Given the description of an element on the screen output the (x, y) to click on. 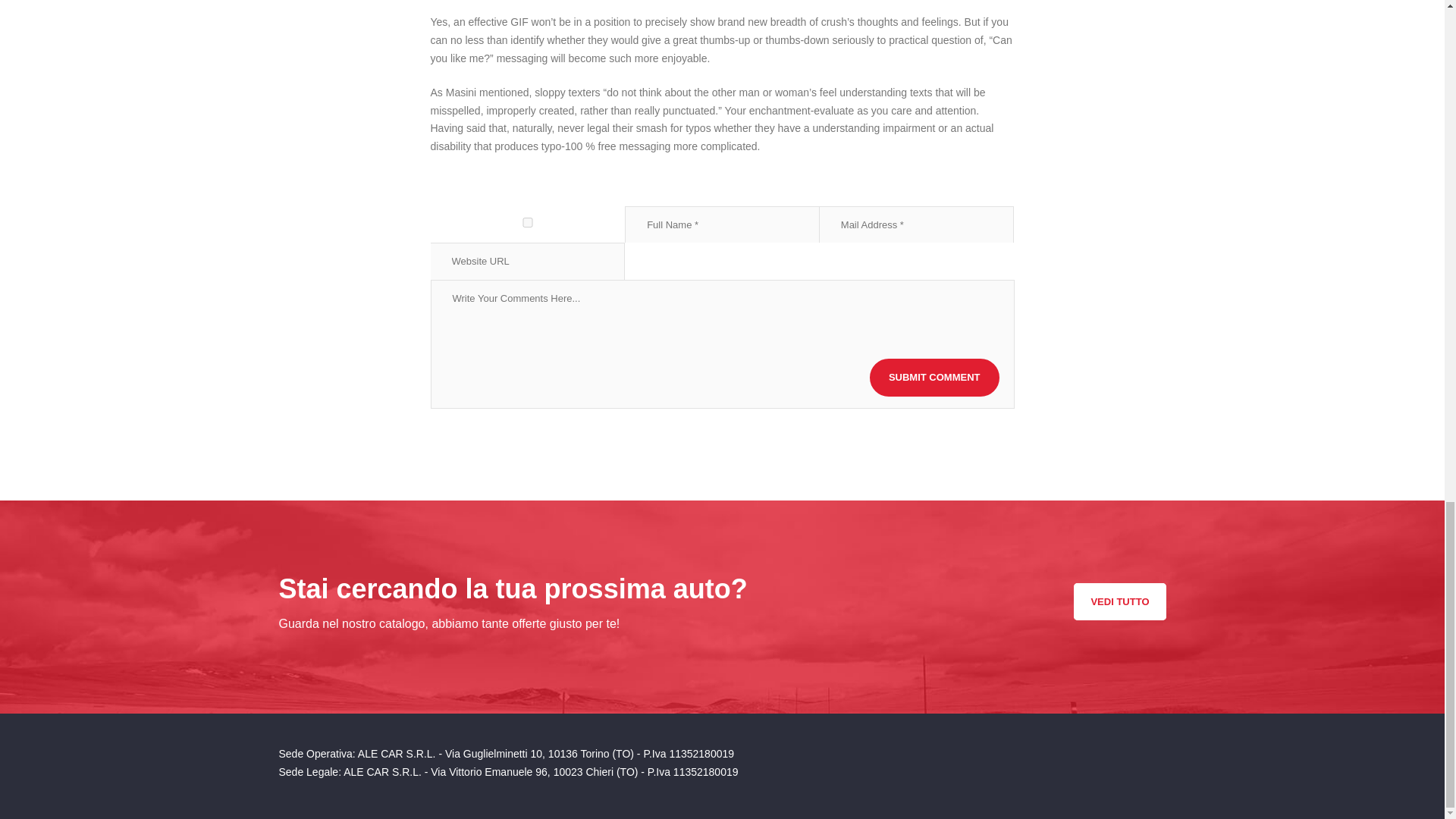
Submit Comment (933, 377)
Submit Comment (933, 377)
yes (528, 222)
VEDI TUTTO (1120, 601)
